Given the description of an element on the screen output the (x, y) to click on. 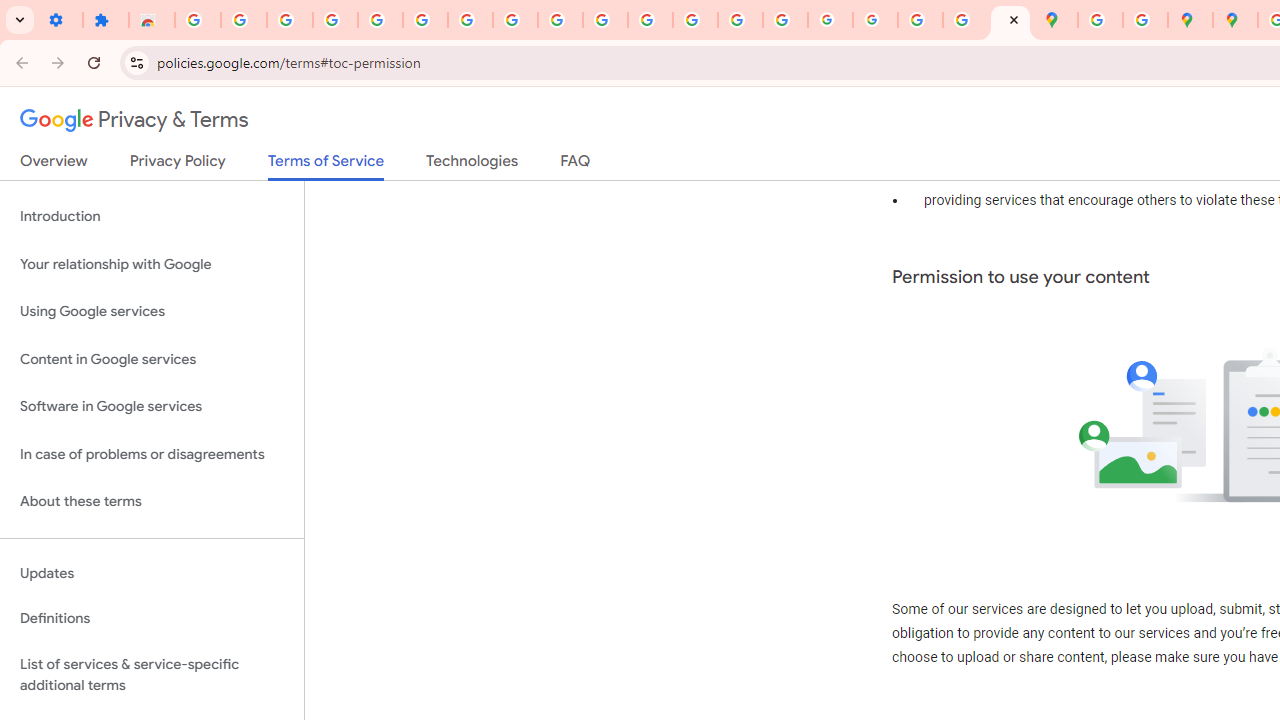
Google Account (514, 20)
https://scholar.google.com/ (650, 20)
Delete photos & videos - Computer - Google Photos Help (290, 20)
Content in Google services (152, 358)
List of services & service-specific additional terms (152, 674)
In case of problems or disagreements (152, 453)
Extensions (106, 20)
YouTube (559, 20)
